Given the description of an element on the screen output the (x, y) to click on. 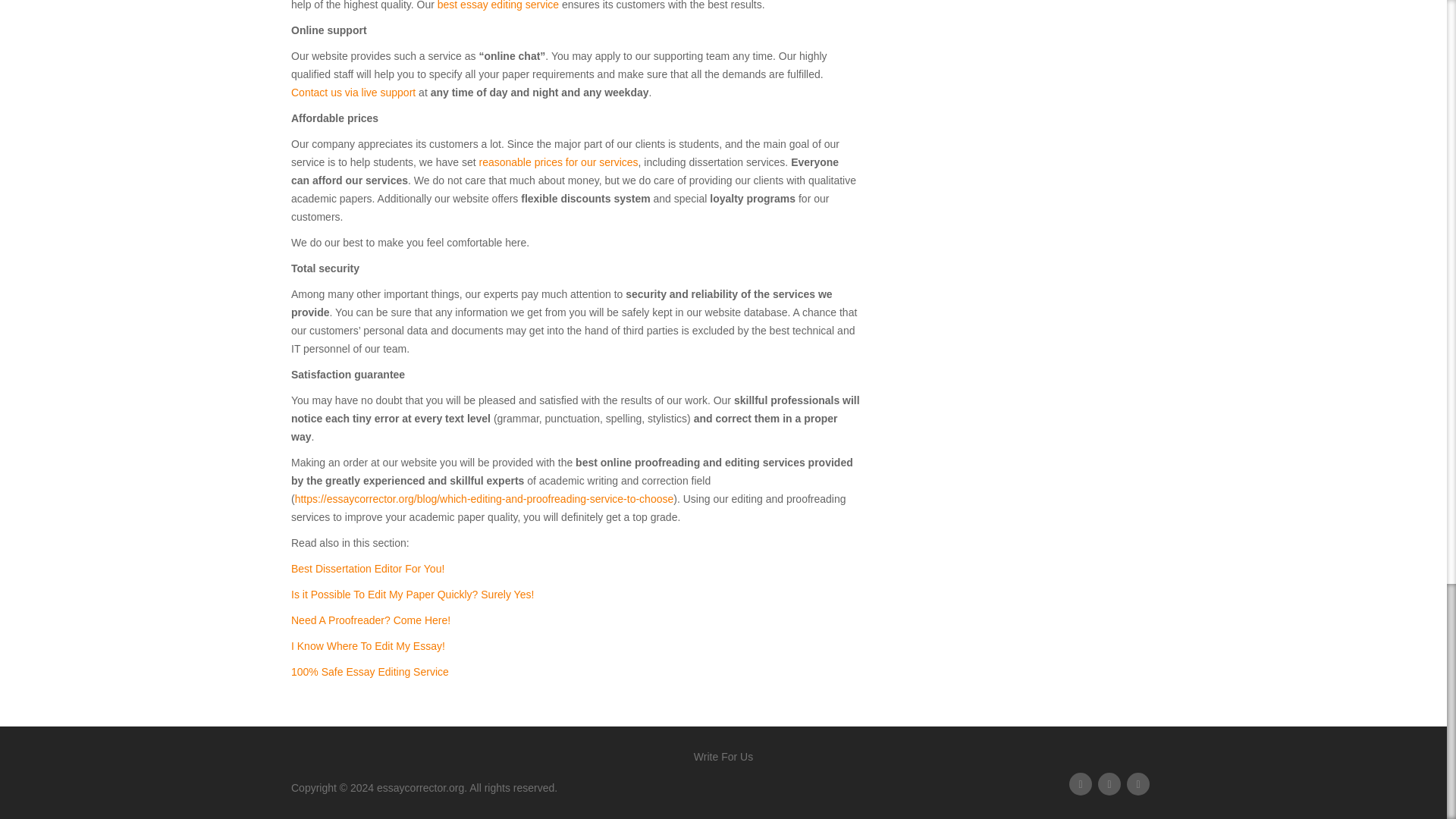
Best Dissertation Editor For You! (367, 568)
Write For Us (723, 756)
Need A Proofreader? Come Here! (370, 620)
essaycorrector.org (420, 787)
I Know Where To Edit My Essay! (368, 645)
Is it Possible To Edit My Paper Quickly? Surely Yes! (412, 594)
reasonable prices for our services (558, 162)
Contact us via live support (352, 92)
best essay editing service (498, 5)
